Given the description of an element on the screen output the (x, y) to click on. 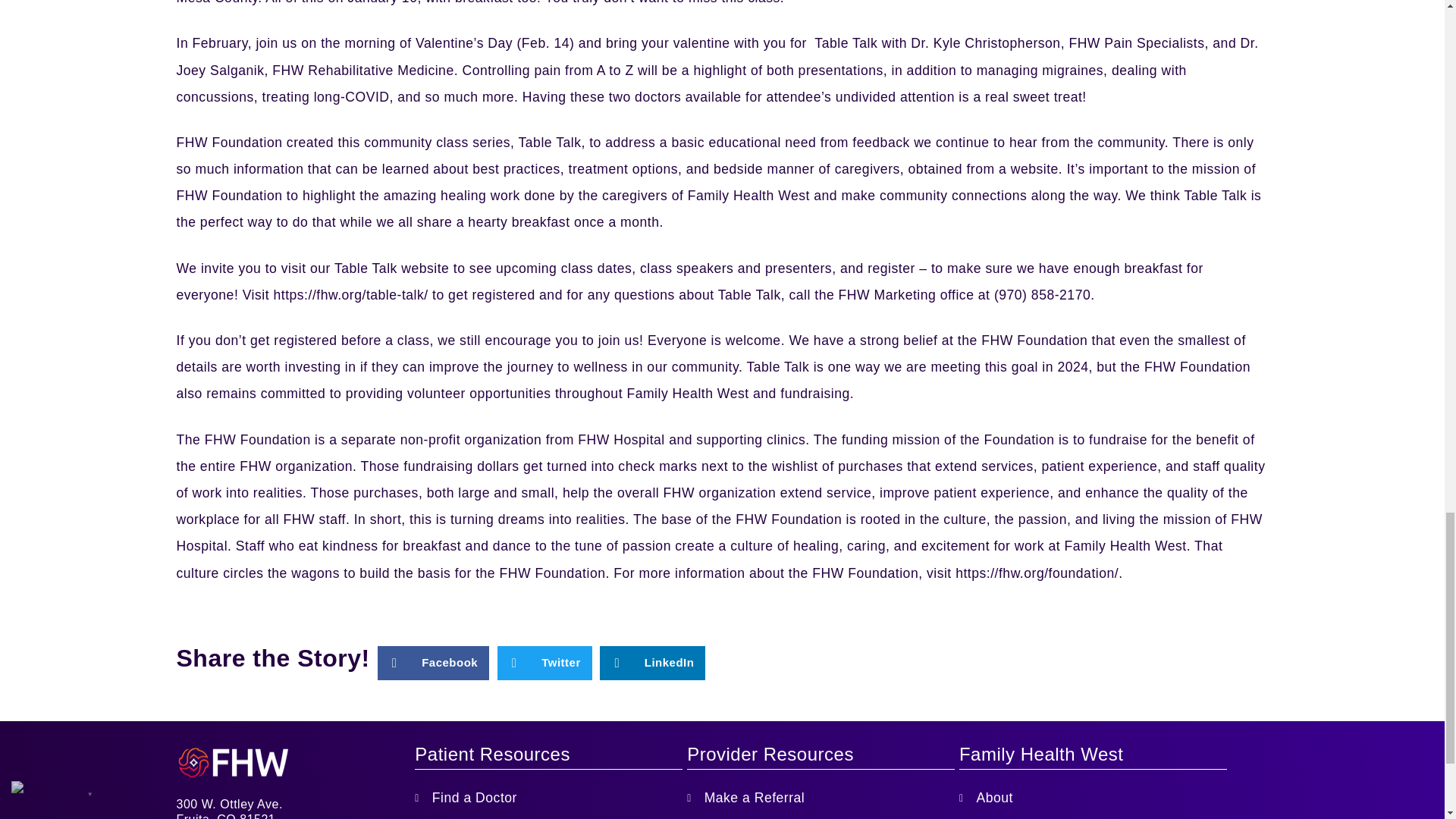
Make a Referral (821, 797)
Find a Doctor (548, 797)
About (1093, 797)
